Given the description of an element on the screen output the (x, y) to click on. 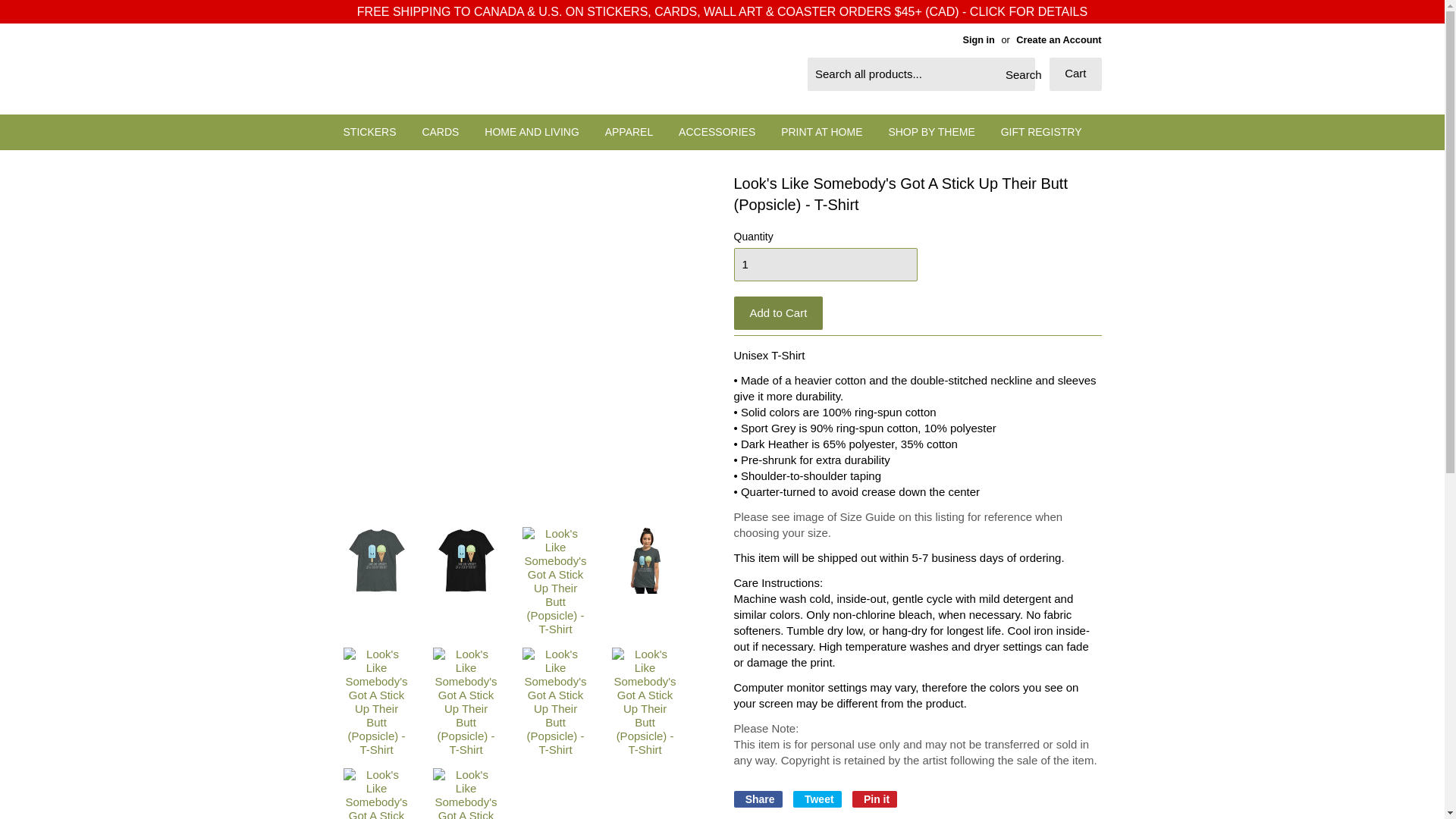
Sign in (978, 39)
Search (1018, 74)
Tweet on Twitter (817, 799)
Create an Account (1058, 39)
Cart (1074, 73)
Share on Facebook (758, 799)
1 (825, 264)
Pin on Pinterest (873, 799)
